Given the description of an element on the screen output the (x, y) to click on. 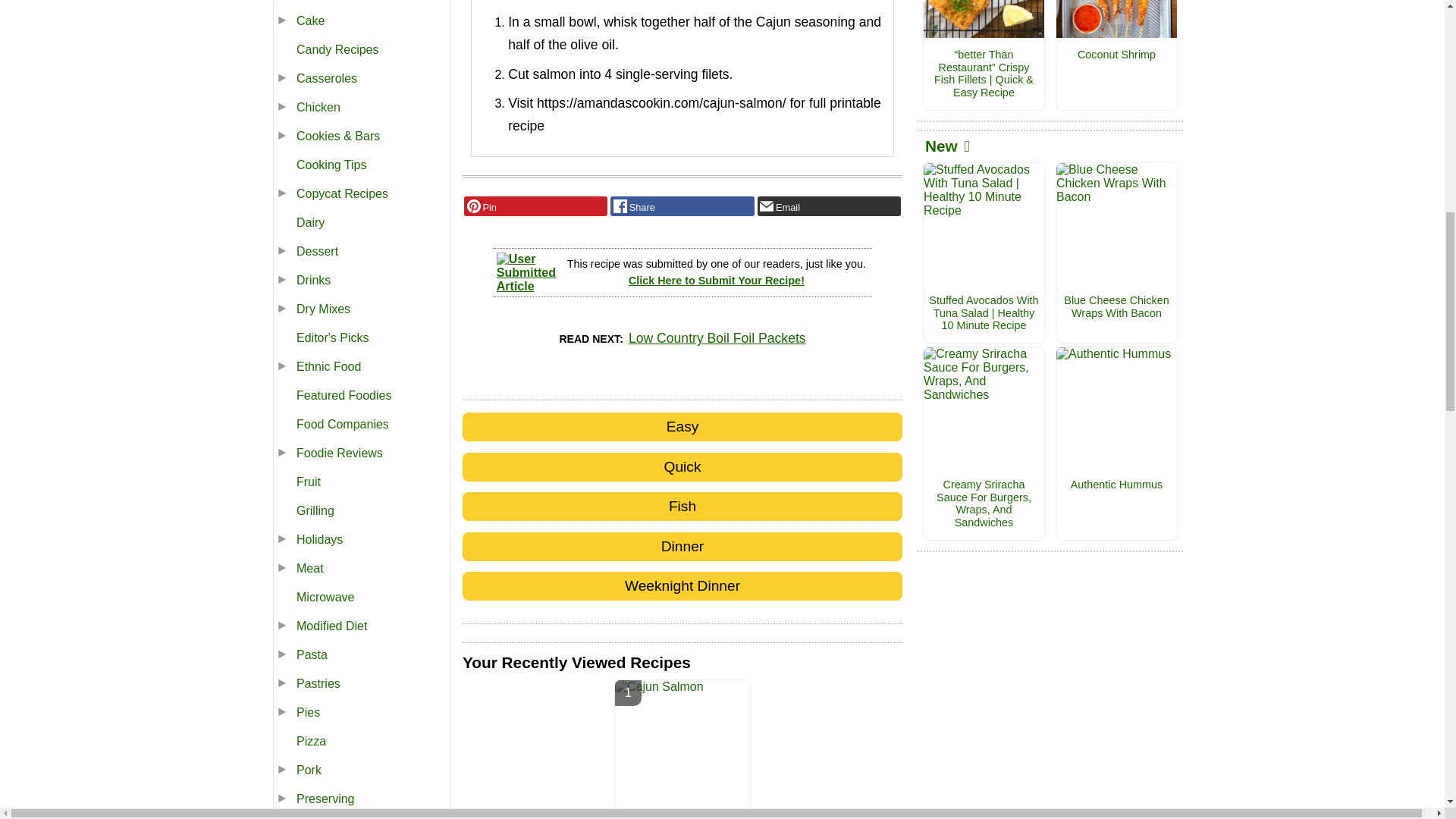
Email (829, 206)
Facebook (682, 206)
